Given the description of an element on the screen output the (x, y) to click on. 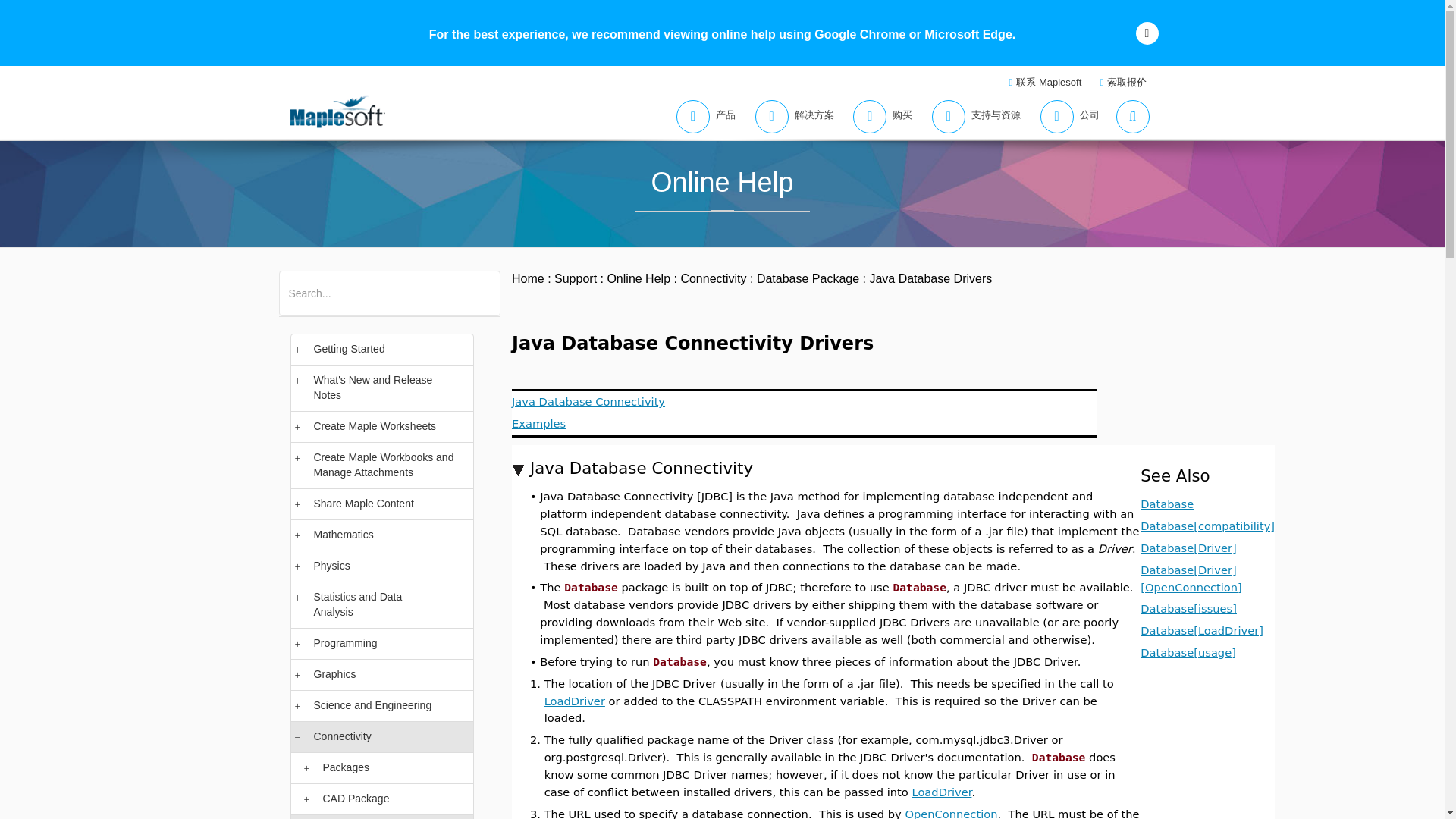
Maple (367, 284)
All (294, 284)
MapleSim (415, 284)
